Given the description of an element on the screen output the (x, y) to click on. 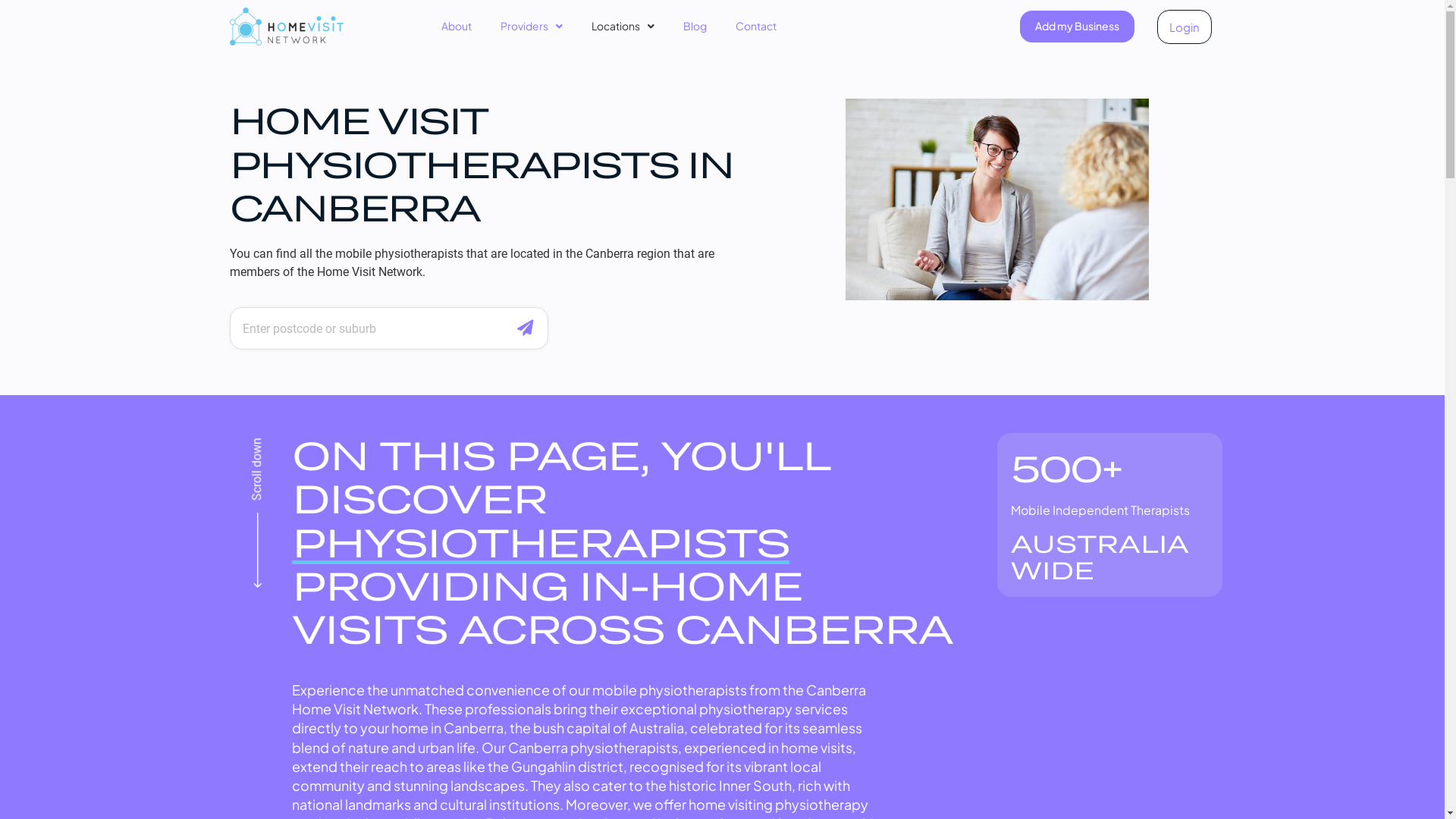
Login Element type: text (1184, 26)
Providers Element type: text (531, 26)
Add my Business Element type: text (1076, 26)
Blog Element type: text (694, 26)
Locations Element type: text (622, 26)
Contact Element type: text (755, 26)
About Element type: text (456, 26)
